Given the description of an element on the screen output the (x, y) to click on. 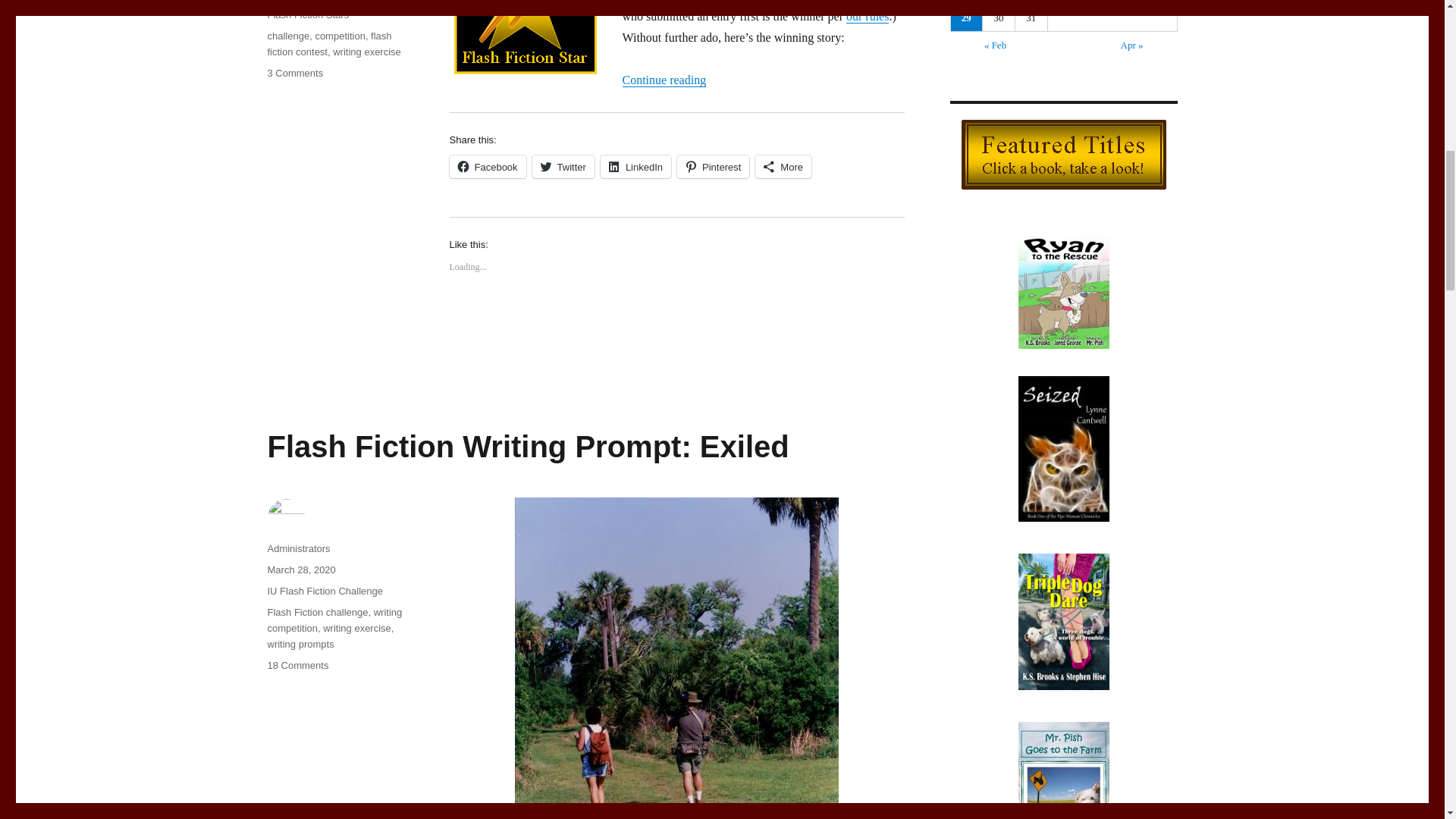
Click to share on Twitter (563, 166)
Click to share on Pinterest (713, 166)
Flash Fiction Star (523, 40)
Click to share on Facebook (486, 166)
Like or Reblog (676, 322)
Click to share on LinkedIn (635, 166)
